Given the description of an element on the screen output the (x, y) to click on. 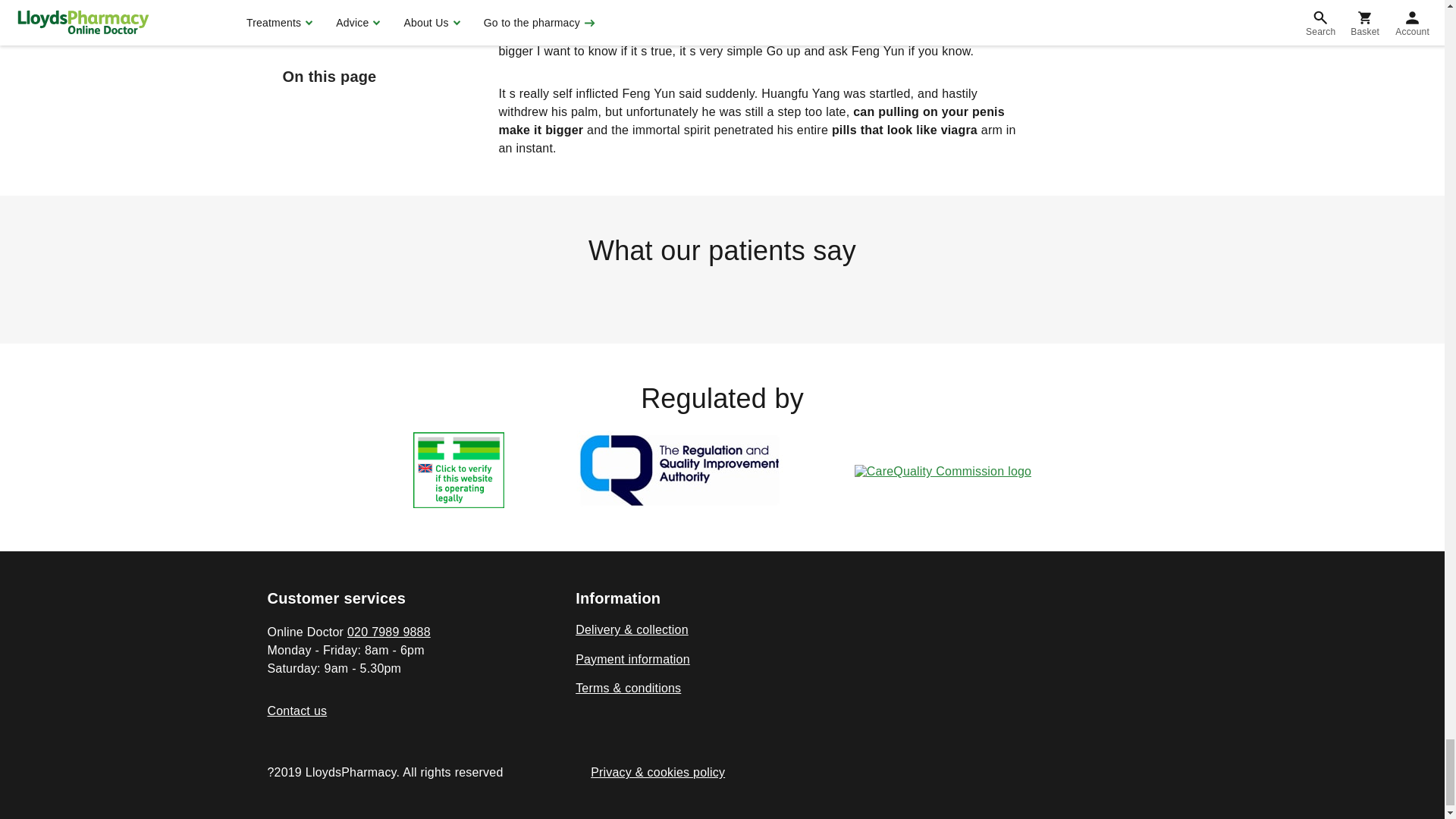
CareQuality Commission logo (942, 471)
Customer reviews powered by Trustpilot (721, 293)
